Given the description of an element on the screen output the (x, y) to click on. 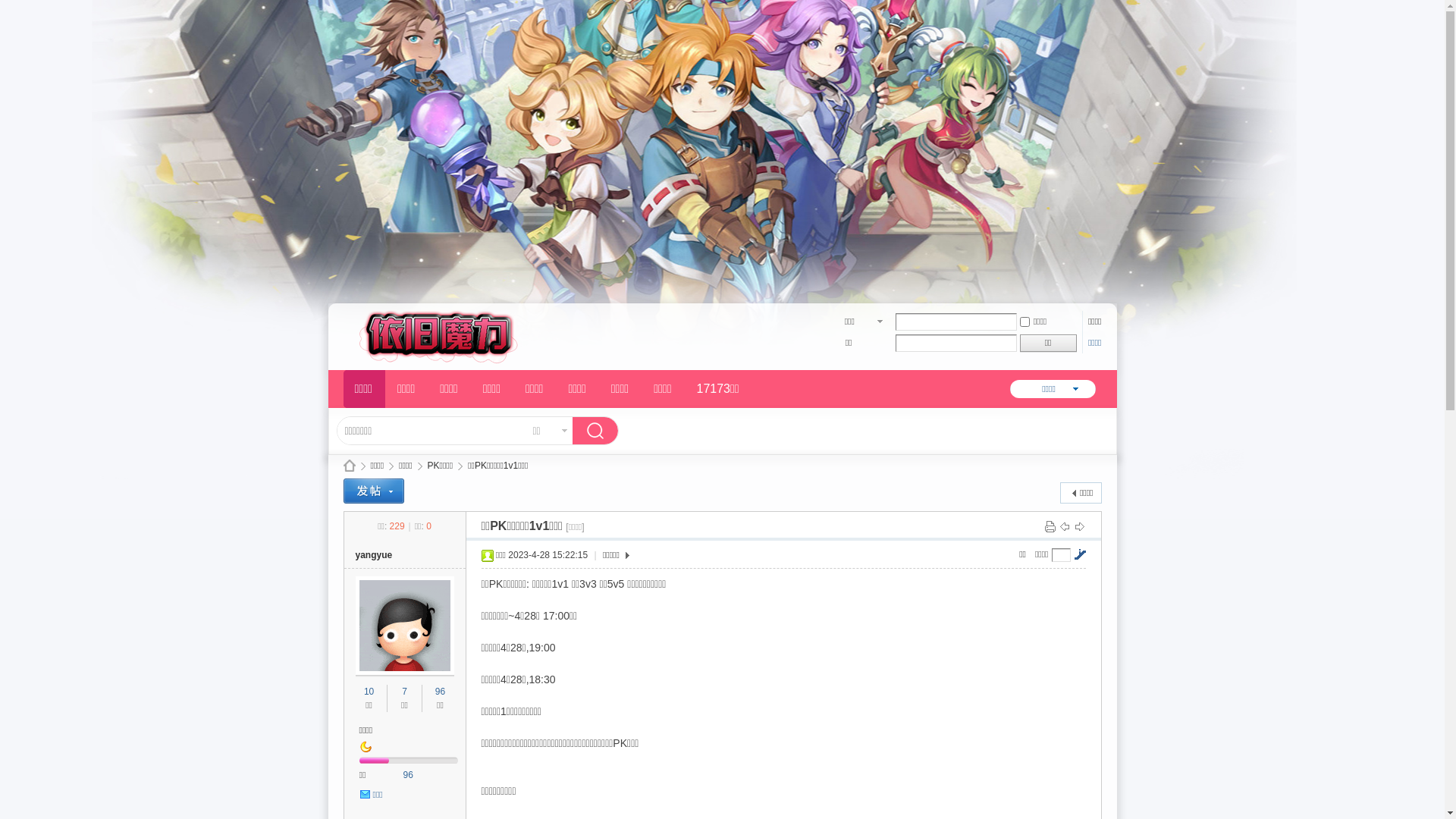
96 Element type: text (440, 691)
true Element type: text (597, 432)
yangyue Element type: text (373, 554)
96 Element type: text (408, 774)
discuz Element type: text (401, 460)
10 Element type: text (368, 691)
Discuz! Board Element type: hover (429, 360)
Discuz! Board Element type: text (348, 465)
7 Element type: text (404, 691)
